Given the description of an element on the screen output the (x, y) to click on. 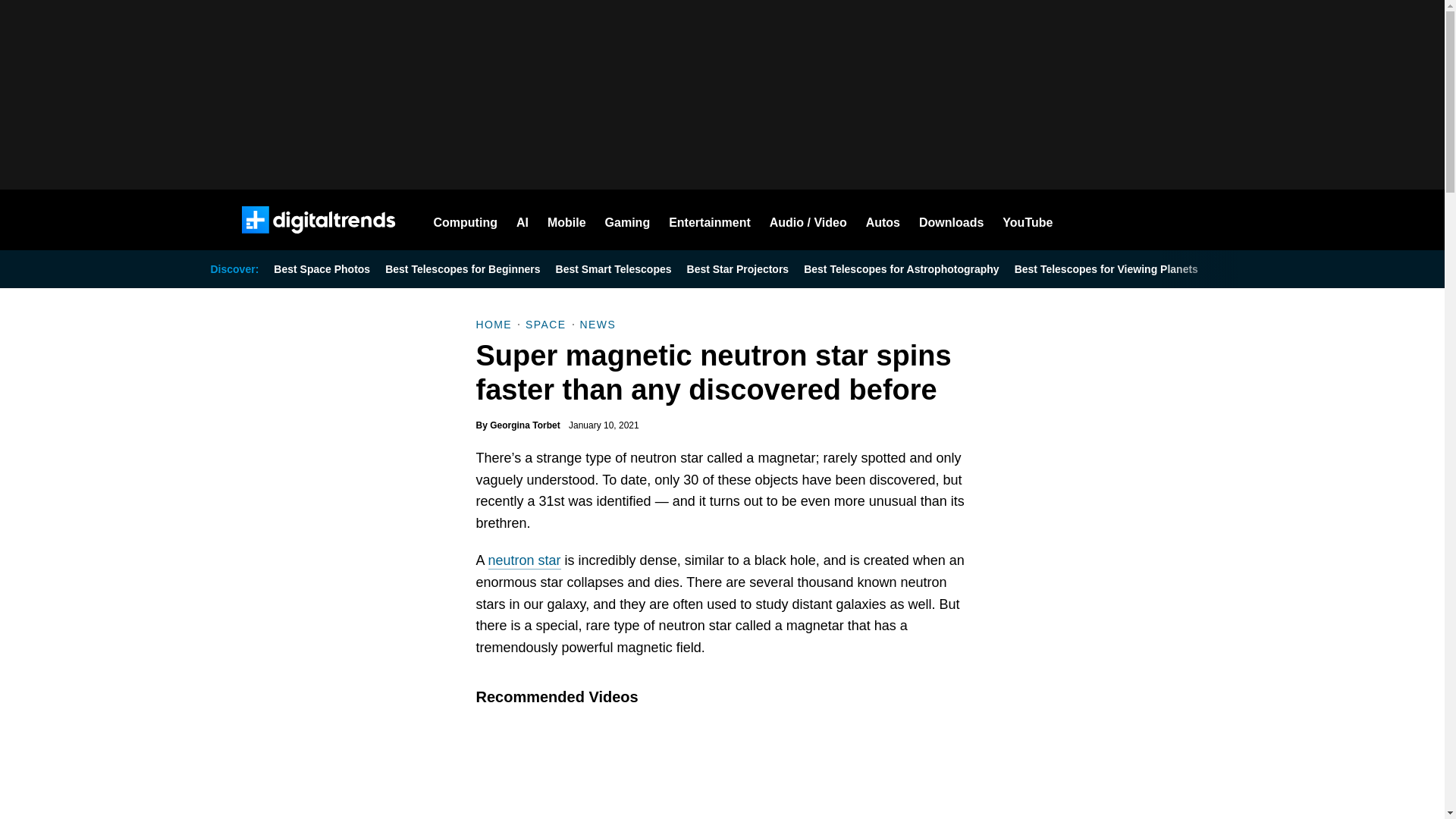
Computing (465, 219)
Gaming (627, 219)
Entertainment (709, 219)
Mobile (566, 219)
AI (522, 219)
YouTube (1027, 219)
Autos (882, 219)
Downloads (951, 219)
